Given the description of an element on the screen output the (x, y) to click on. 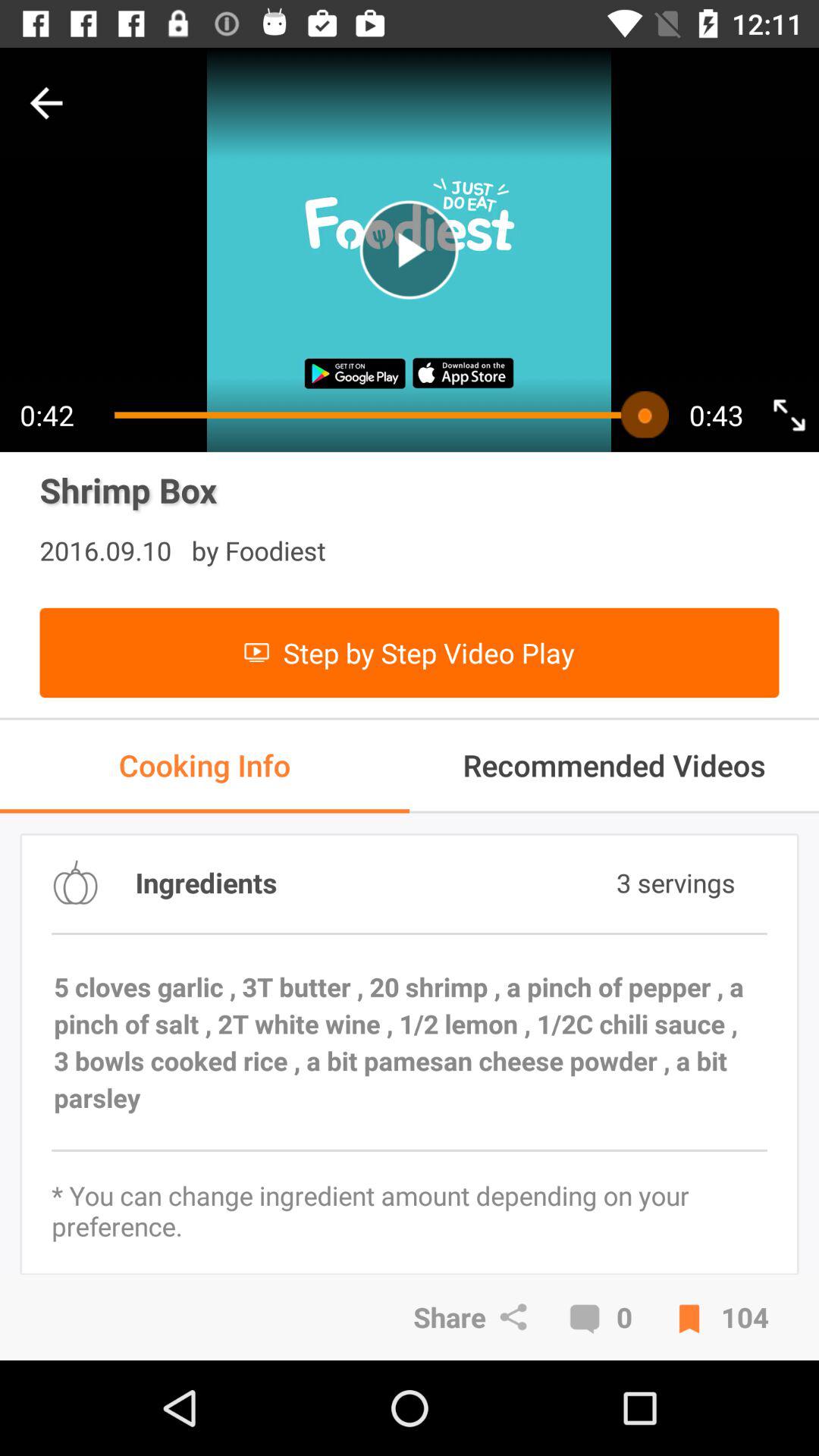
back button (46, 102)
